Given the description of an element on the screen output the (x, y) to click on. 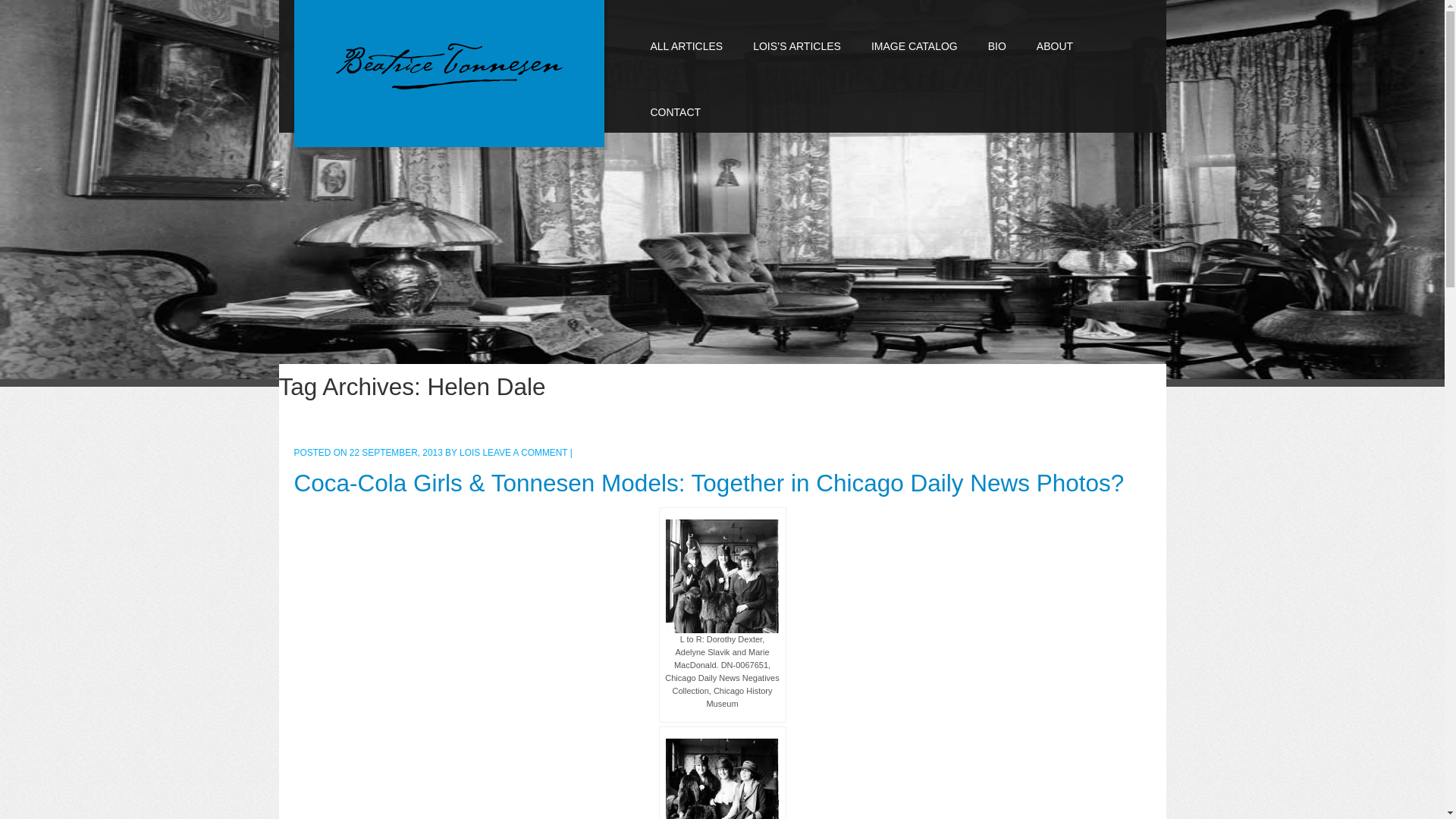
ALL ARTICLES (686, 33)
BIO (997, 33)
View all posts by Lois (470, 452)
IMAGE CATALOG (914, 33)
22 SEPTEMBER, 2013 (397, 452)
1:42 pm (397, 452)
LOIS (470, 452)
LEAVE A COMMENT (524, 452)
Beatrice Tonnesen (448, 66)
CONTACT (675, 98)
ABOUT (1054, 33)
